Given the description of an element on the screen output the (x, y) to click on. 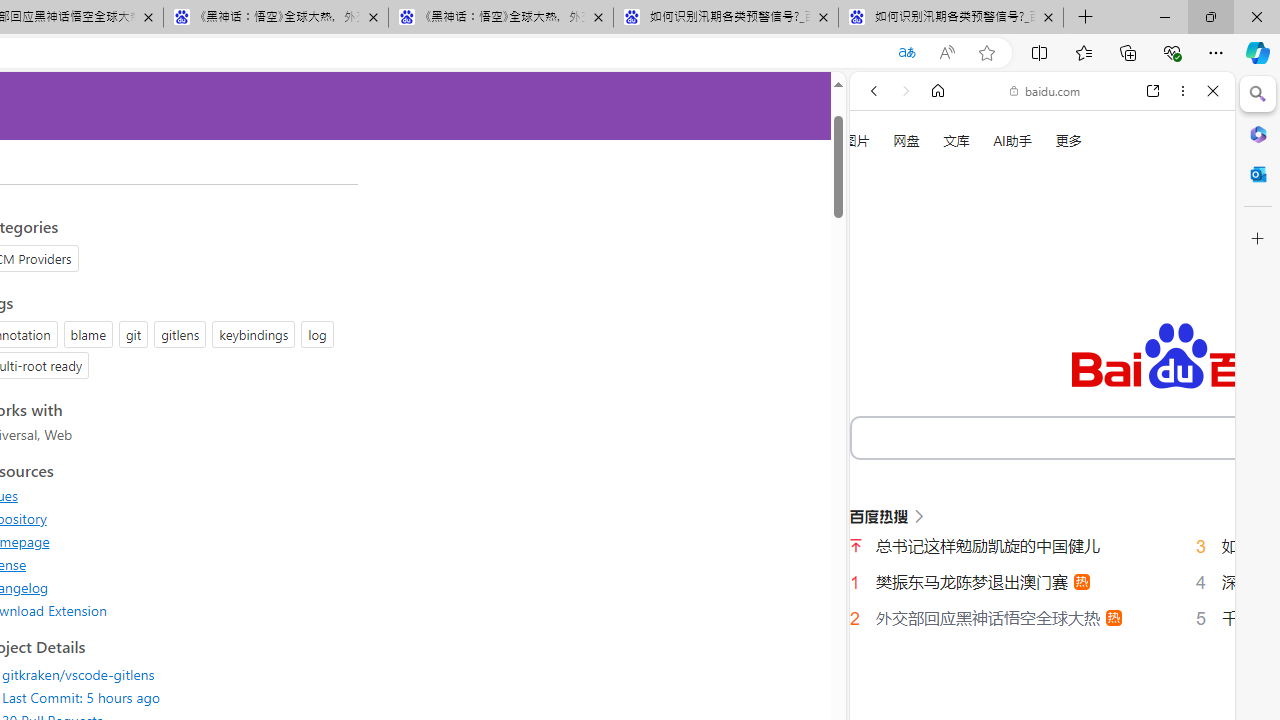
Search Filter, Search Tools (1093, 339)
Search Filter, IMAGES (939, 339)
Outlook (1258, 174)
WEB   (882, 339)
English (US) (1042, 579)
